Given the description of an element on the screen output the (x, y) to click on. 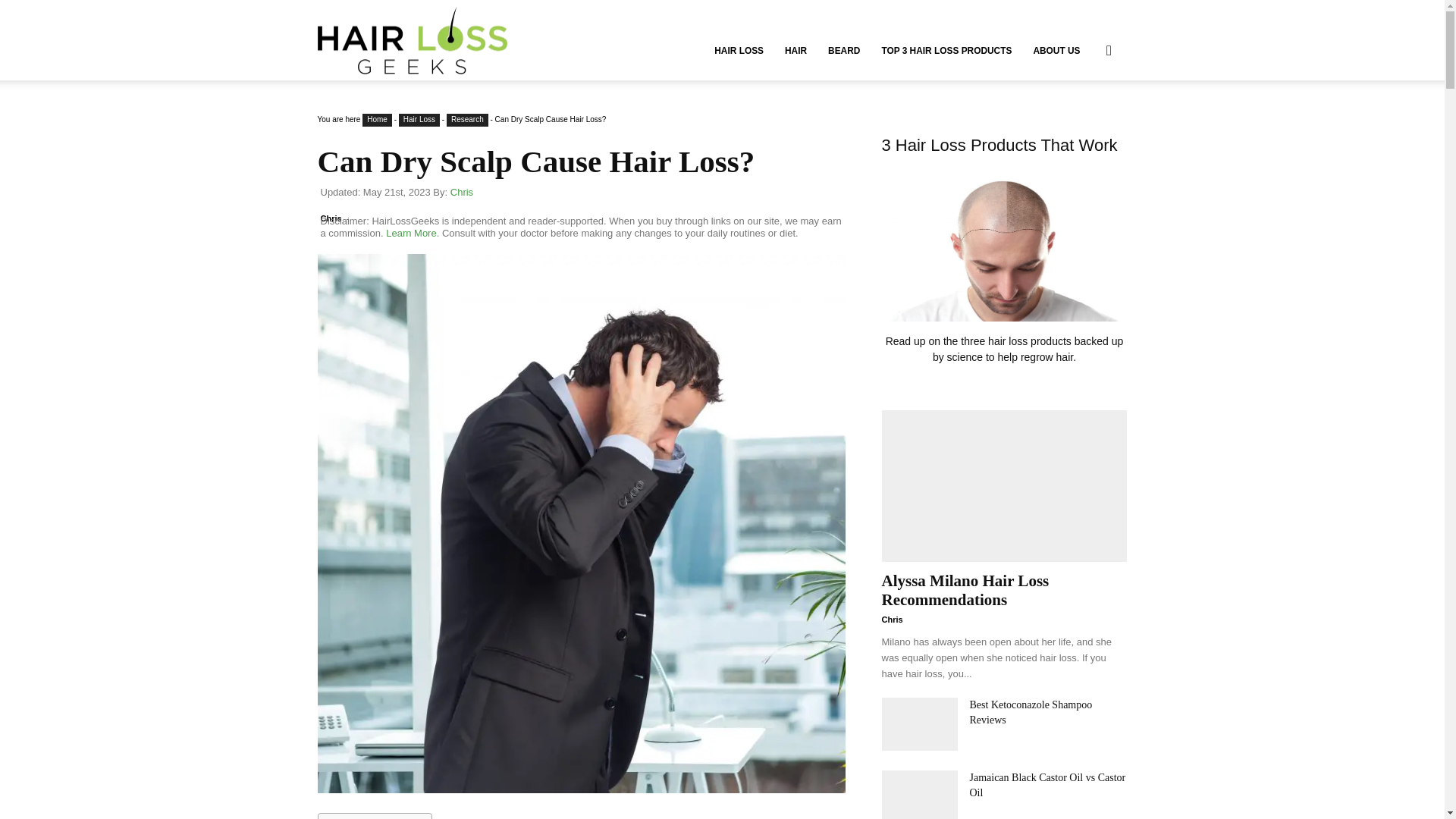
Alyssa Milano Hair Loss Recommendations (964, 590)
Can Dry Scalp Cause Hair Loss? (535, 161)
ABOUT US (1056, 50)
Home (376, 119)
HAIR LOSS (738, 50)
BEARD (843, 50)
Best Ketoconazole Shampoo Reviews (918, 724)
Alyssa Milano Hair Loss Recommendations (1003, 485)
Hair Loss Geeks (411, 40)
